Given the description of an element on the screen output the (x, y) to click on. 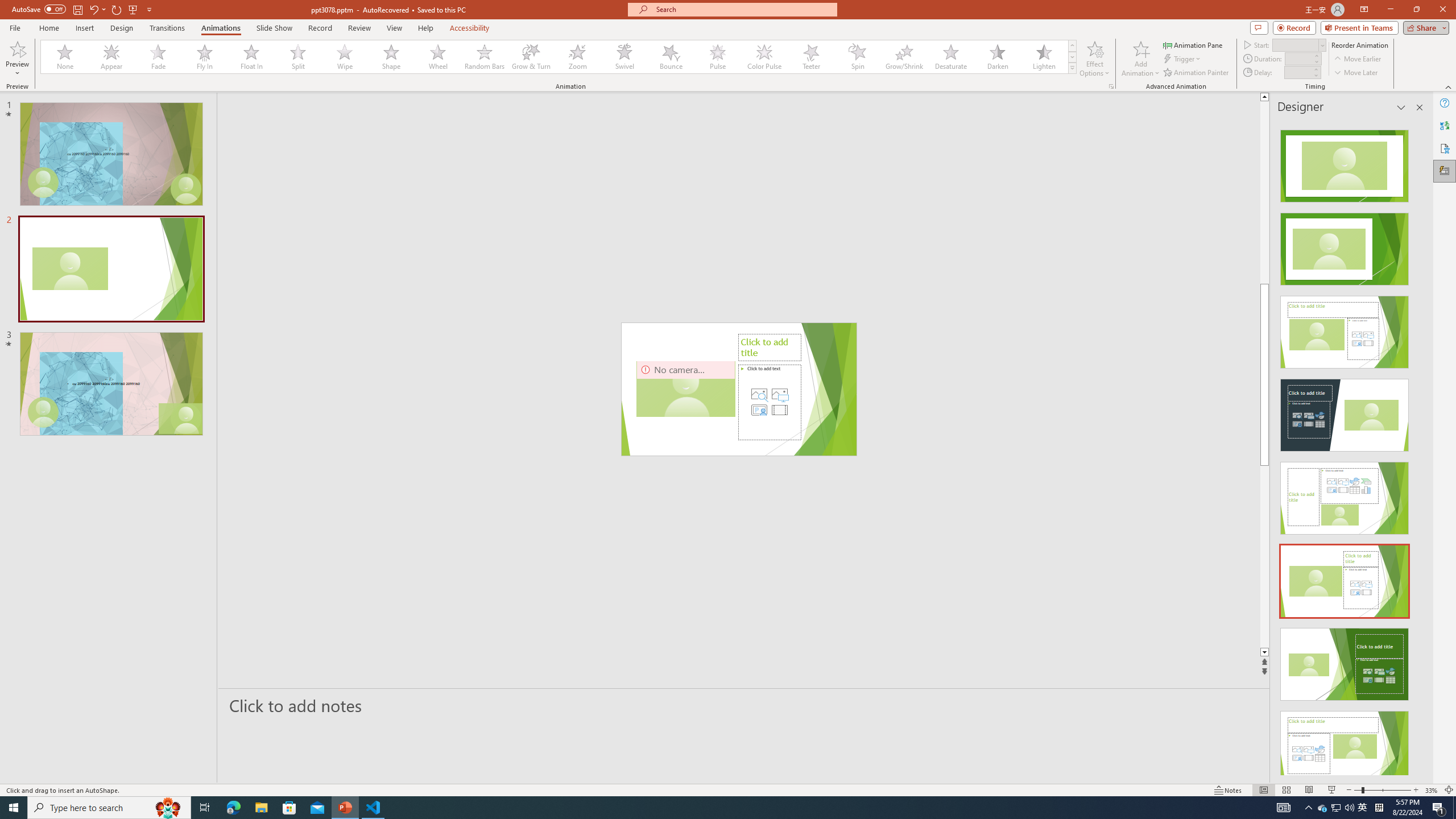
Comments (1259, 27)
Animation Styles (1071, 67)
Present in Teams (1359, 27)
File Tab (15, 27)
Zoom 33% (1431, 790)
Transitions (167, 28)
Save (77, 9)
Zoom In (1415, 790)
Teeter (810, 56)
Effect Options (1094, 58)
Shape (391, 56)
Class: NetUIScrollBar (1418, 447)
Review (359, 28)
Share (1423, 27)
